Given the description of an element on the screen output the (x, y) to click on. 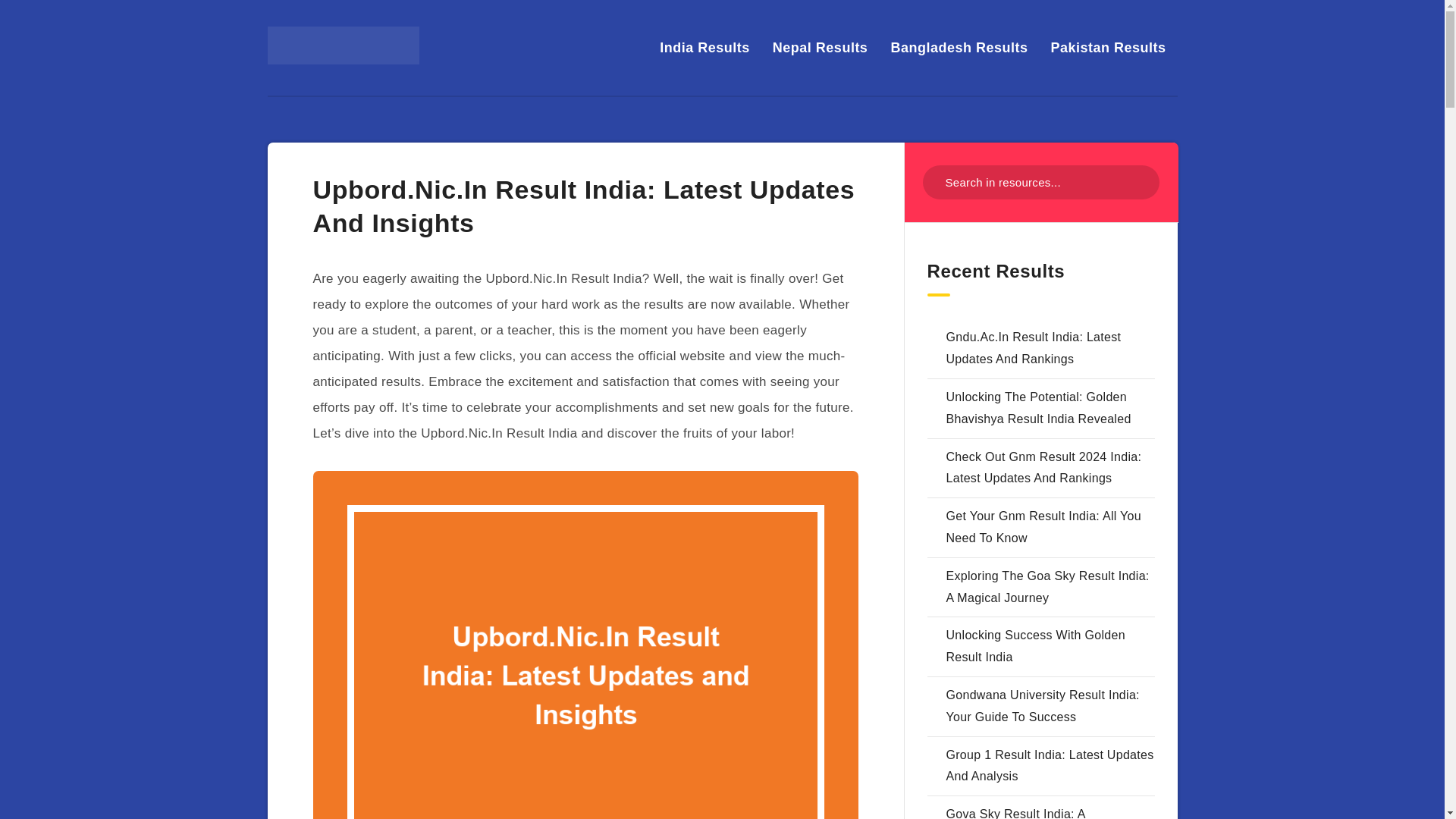
Exploring The Goa Sky Result India: A Magical Journey (1048, 586)
Pakistan Results (1107, 47)
Get Your Gnm Result India: All You Need To Know (1043, 526)
Unlocking Success With Golden Result India (1035, 645)
Gondwana University Result India: Your Guide To Success (1043, 705)
Gndu.Ac.In Result India: Latest Updates And Rankings (1033, 347)
India Results (704, 47)
Bangladesh Results (958, 47)
Check Out Gnm Result 2024 India: Latest Updates And Rankings (1043, 467)
Nepal Results (820, 47)
Group 1 Result India: Latest Updates And Analysis (1050, 765)
